Given the description of an element on the screen output the (x, y) to click on. 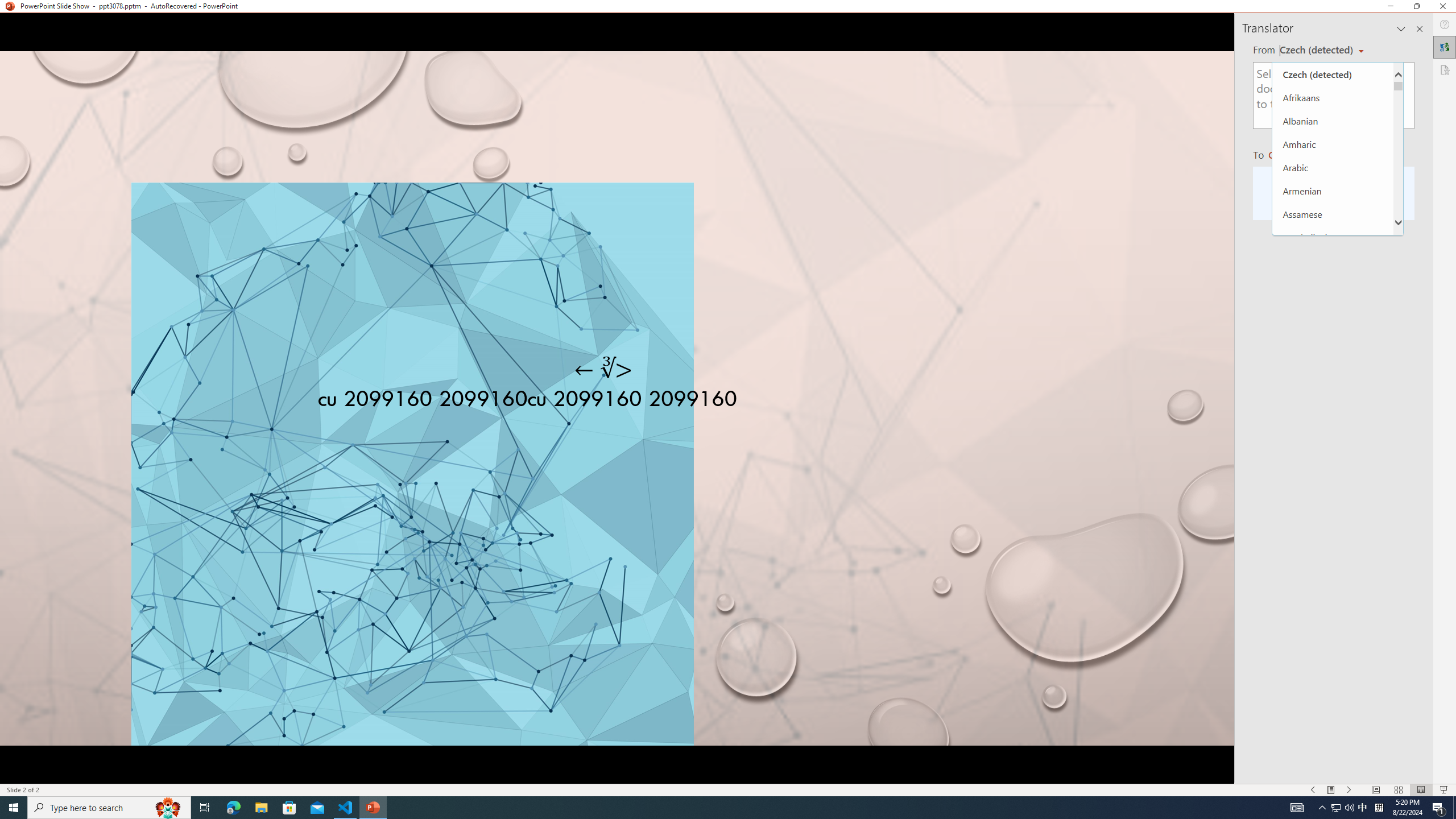
Gmail (362, 78)
SJTUvpn (440, 78)
Earth - Wikipedia (23, 481)
